Given the description of an element on the screen output the (x, y) to click on. 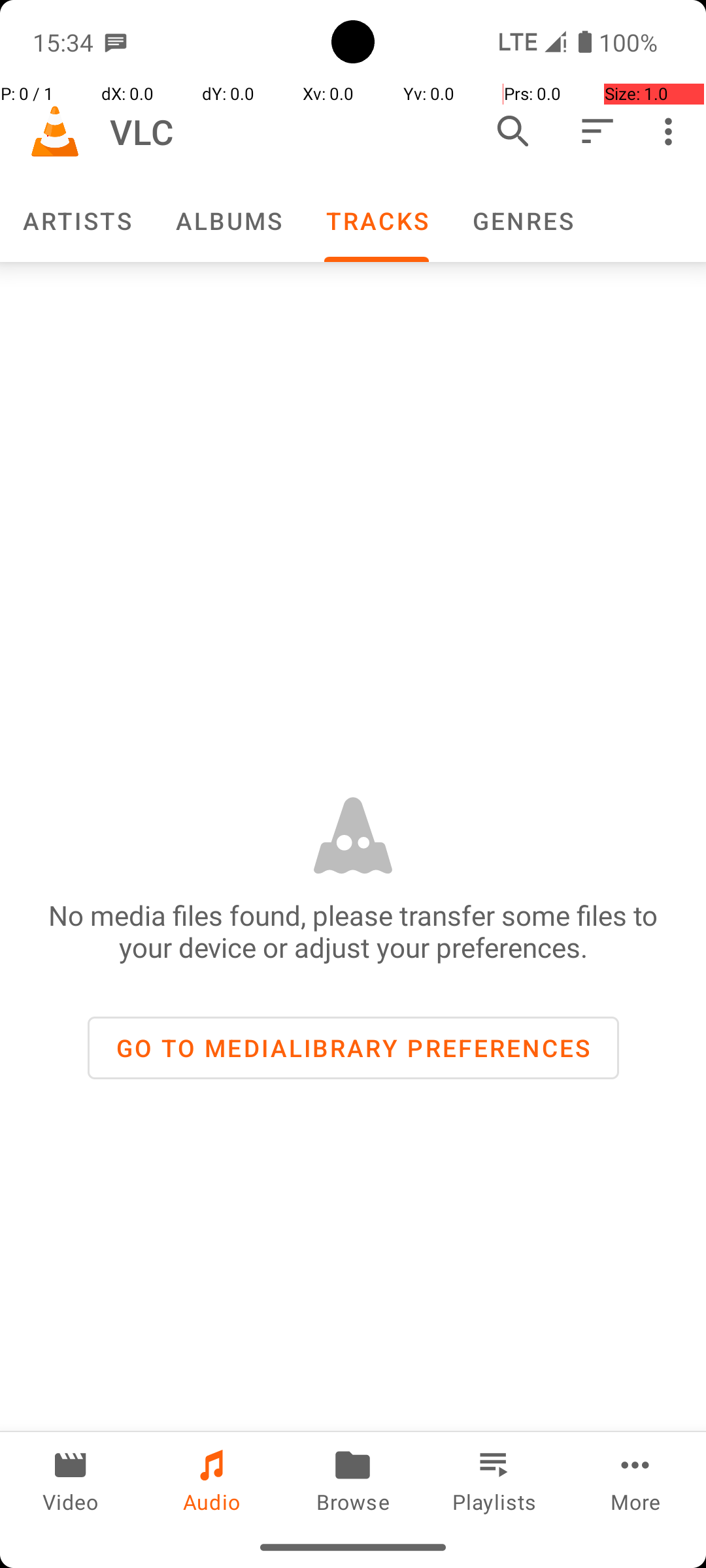
No media files found, please transfer some files to your device or adjust your preferences. Element type: android.widget.TextView (352, 930)
GO TO MEDIALIBRARY PREFERENCES Element type: android.widget.Button (353, 1047)
